Given the description of an element on the screen output the (x, y) to click on. 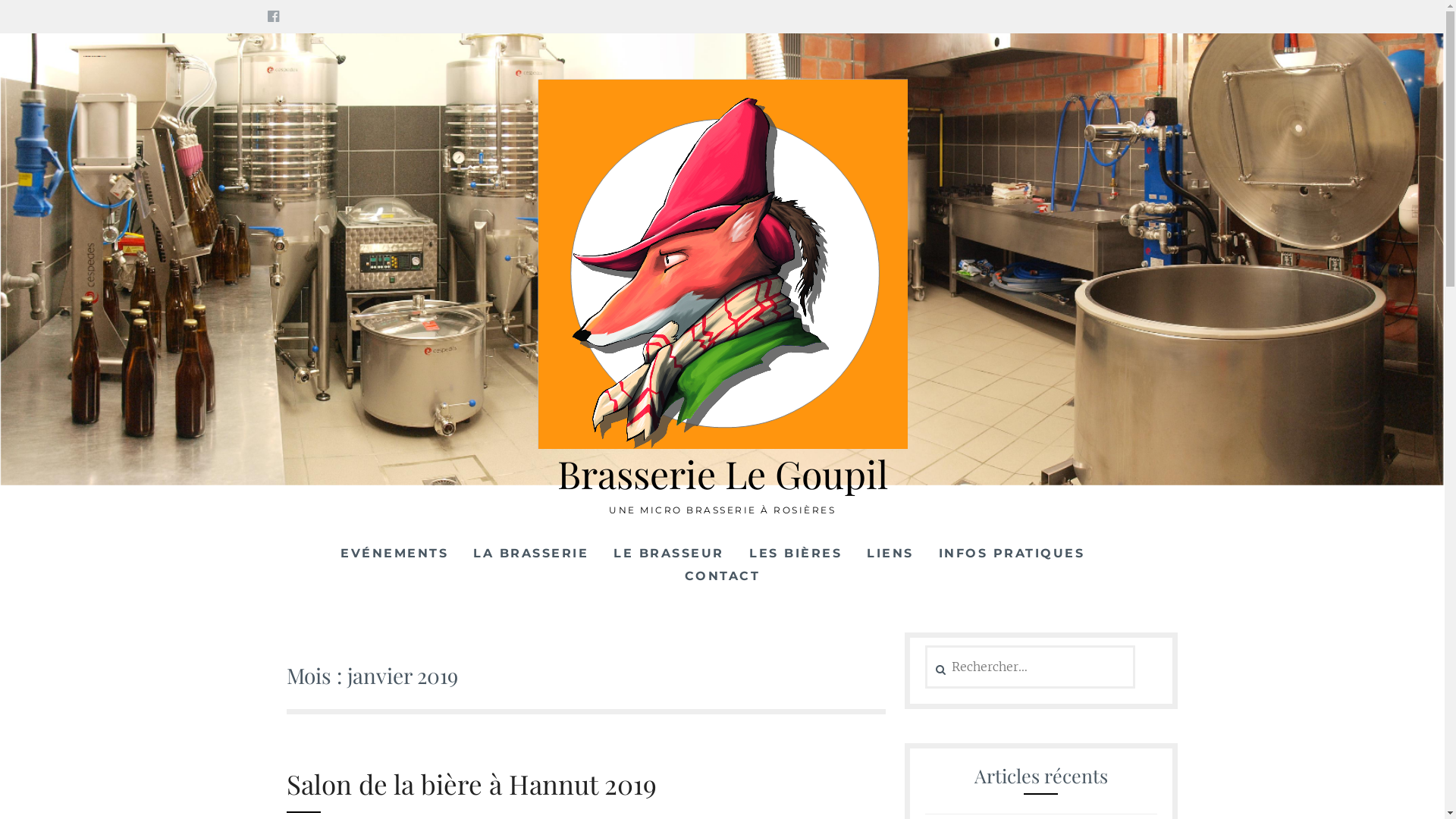
LE BRASSEUR Element type: text (668, 553)
Facebook Element type: text (272, 16)
LIENS Element type: text (889, 553)
CONTACT Element type: text (722, 576)
Rechercher Element type: text (61, 19)
Brasserie Le Goupil Element type: text (721, 473)
INFOS PRATIQUES Element type: text (1011, 553)
LA BRASSERIE Element type: text (530, 553)
